Given the description of an element on the screen output the (x, y) to click on. 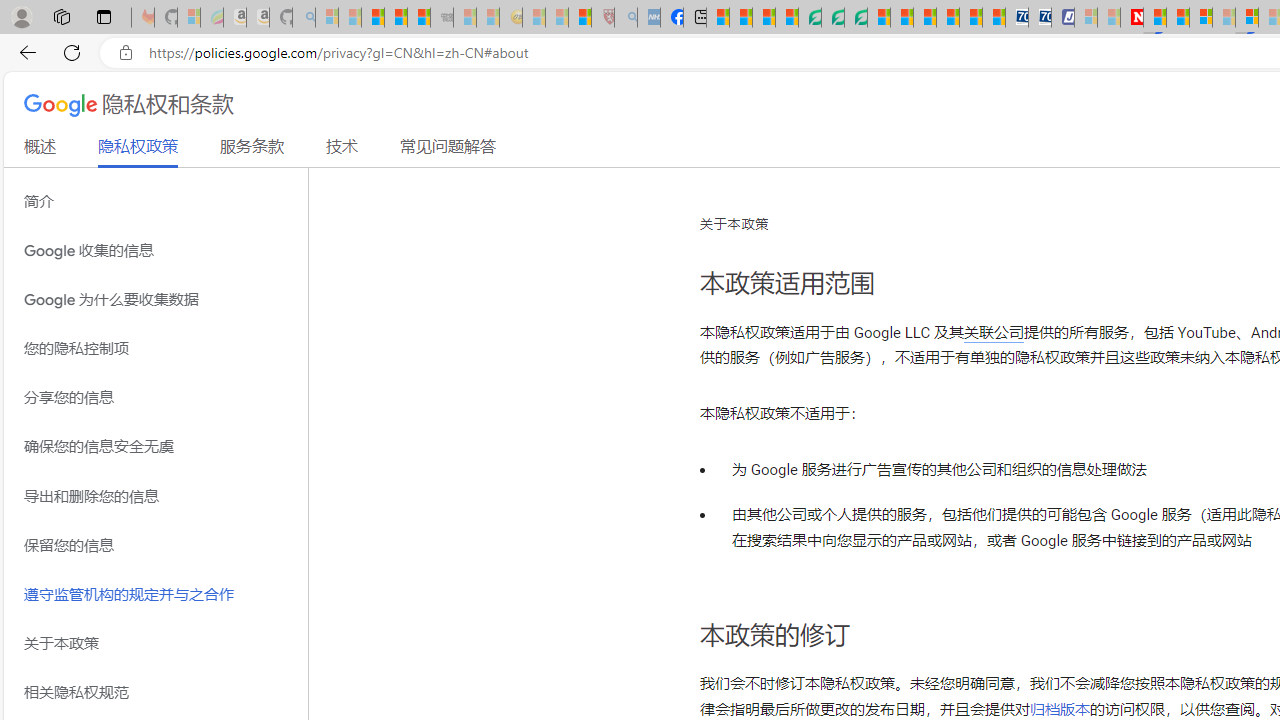
The Weather Channel - MSN (372, 17)
